Given the description of an element on the screen output the (x, y) to click on. 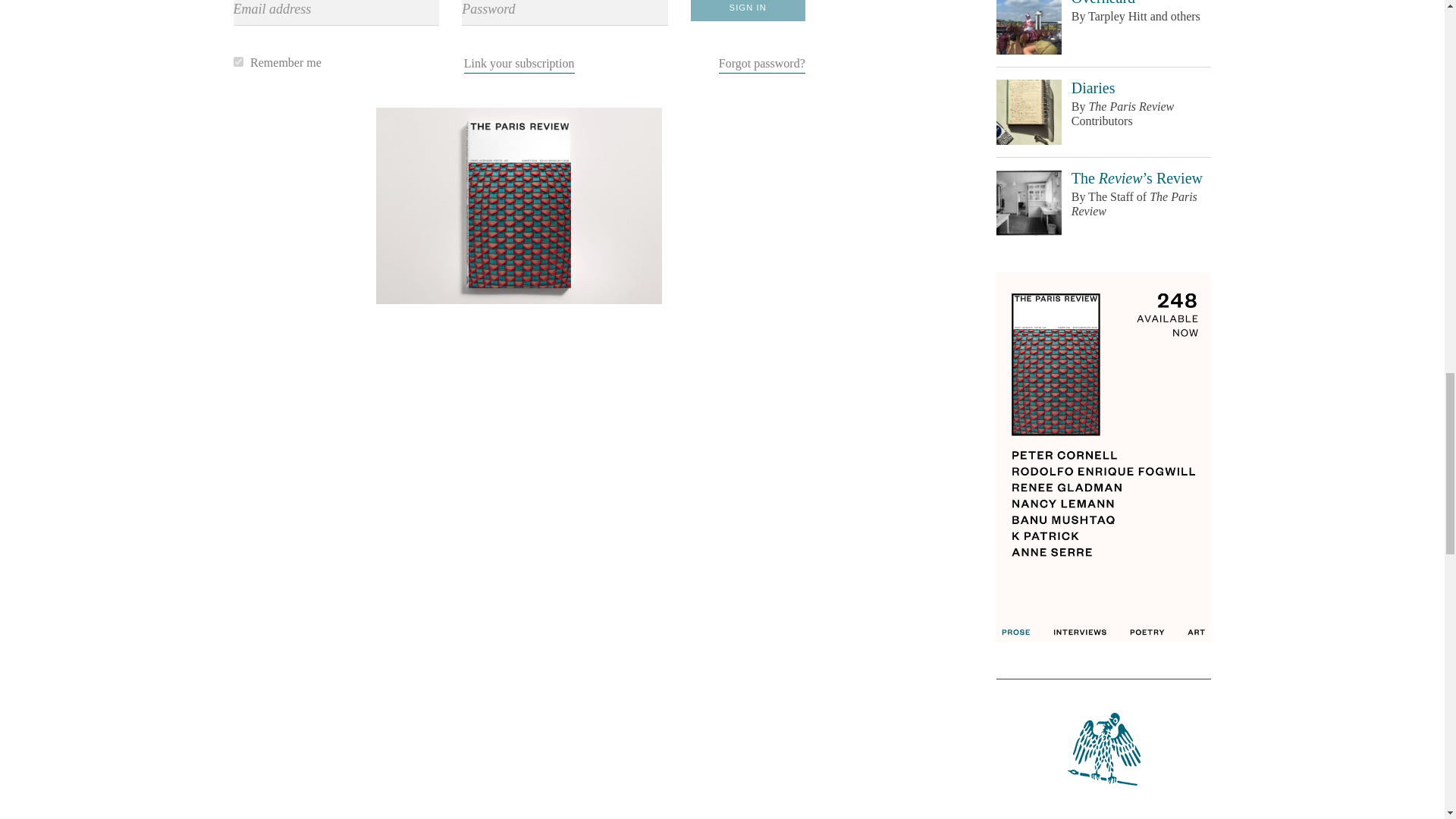
Sign In (747, 10)
remember (237, 61)
